Given the description of an element on the screen output the (x, y) to click on. 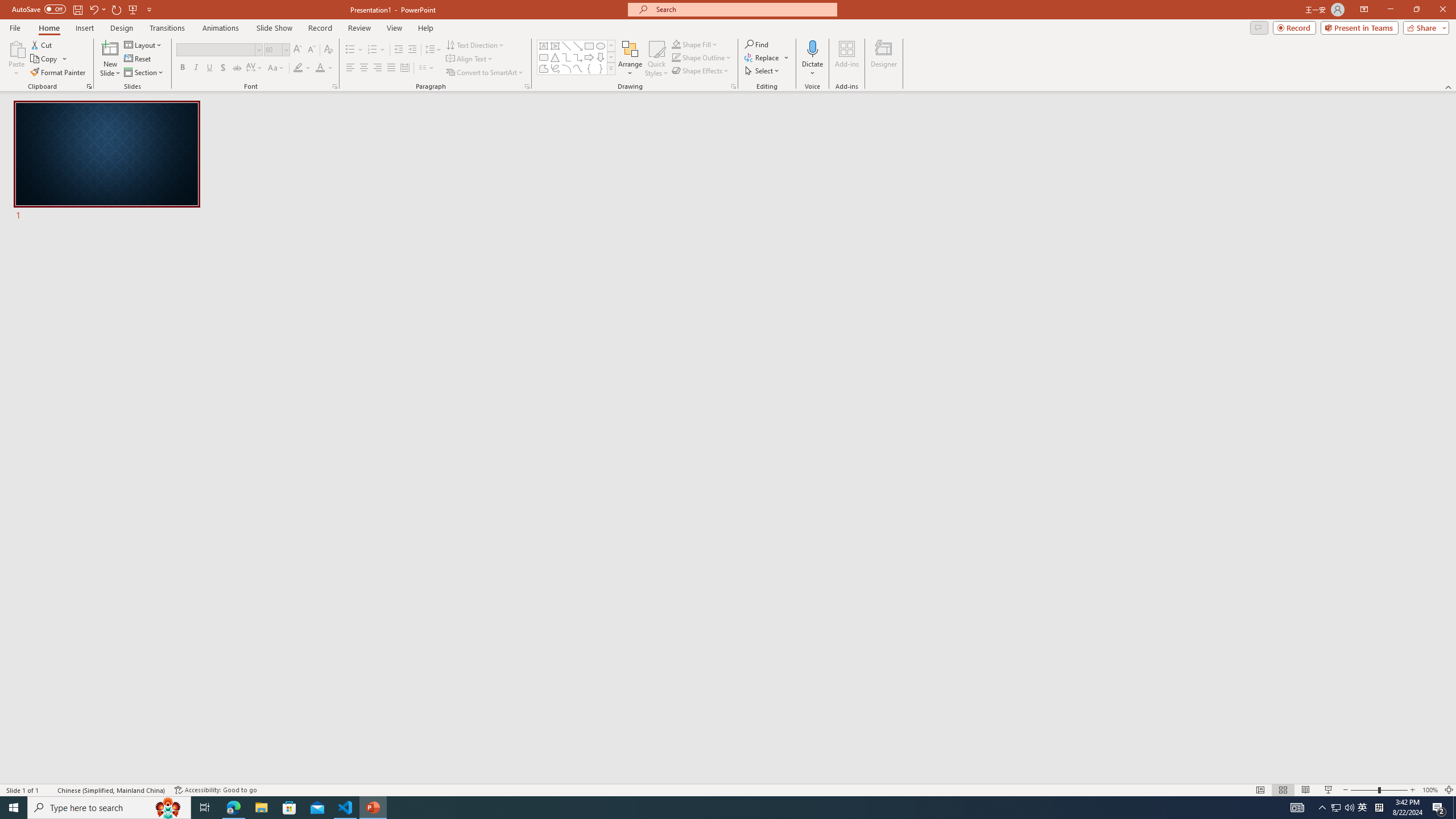
Zoom 100% (1430, 790)
Shape Effects (700, 69)
